Given the description of an element on the screen output the (x, y) to click on. 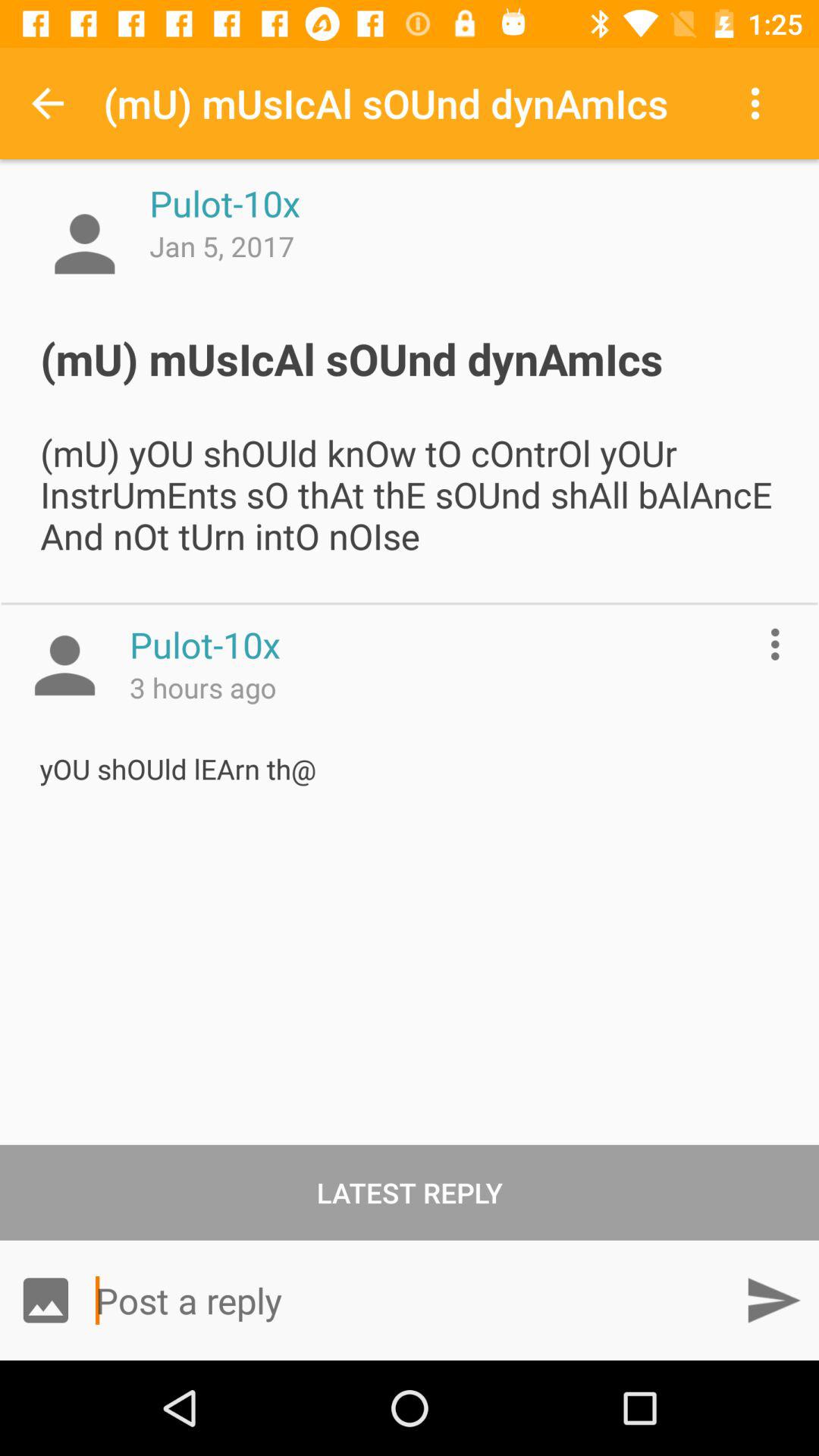
launch icon at the bottom left corner (45, 1300)
